Given the description of an element on the screen output the (x, y) to click on. 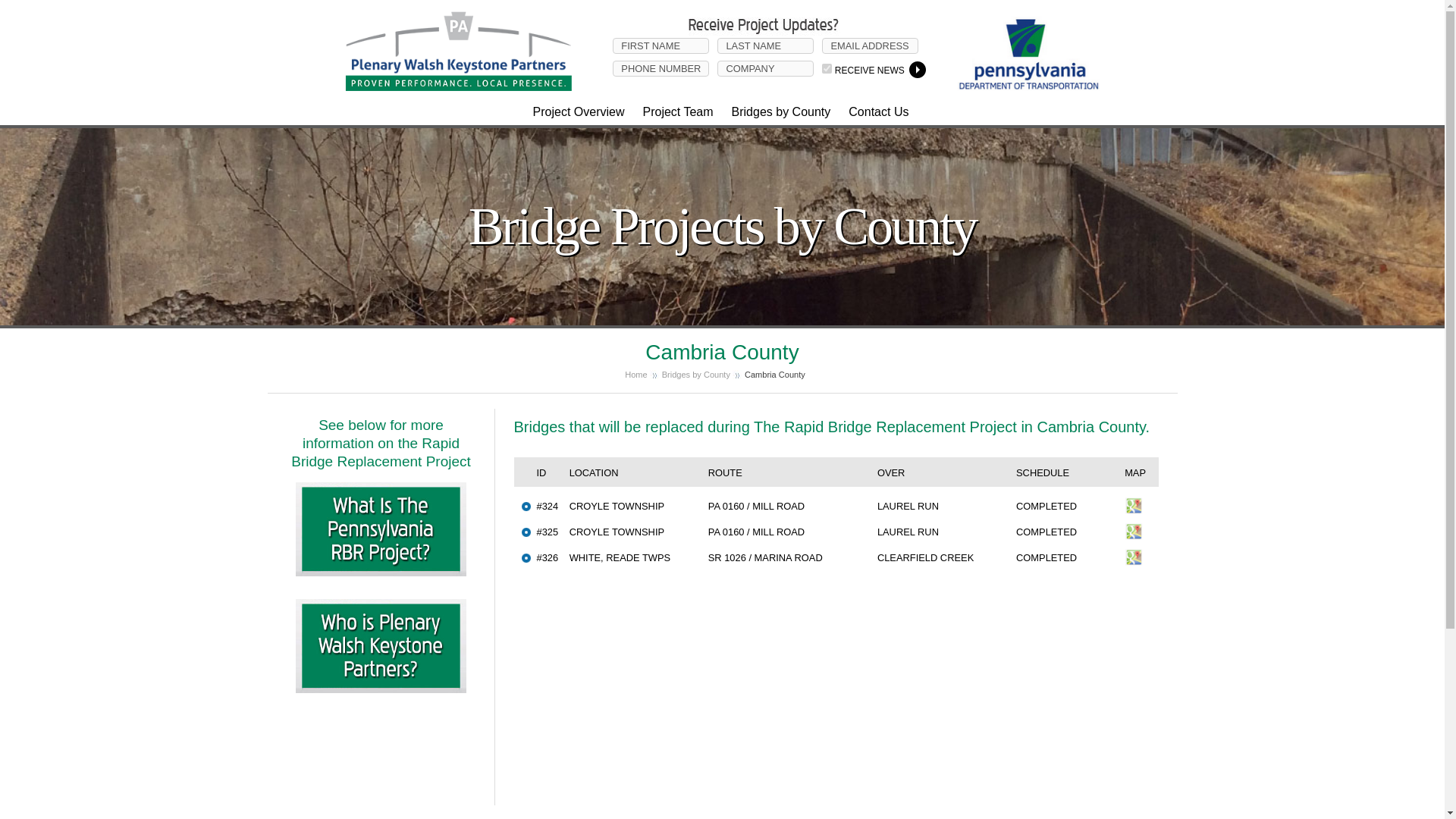
LAST NAME (765, 45)
Project Overview (579, 111)
Bridges by County (696, 374)
Contact Us (879, 111)
on (826, 68)
COMPANY (765, 68)
EMAIL ADDRESS (870, 45)
What Is The Rapid Bridge Replacement Project? (381, 487)
Bridges by County (696, 374)
Home (635, 374)
Home (635, 374)
PennDOT (1016, 87)
Bridges by County (782, 111)
Project Team (678, 111)
